Given the description of an element on the screen output the (x, y) to click on. 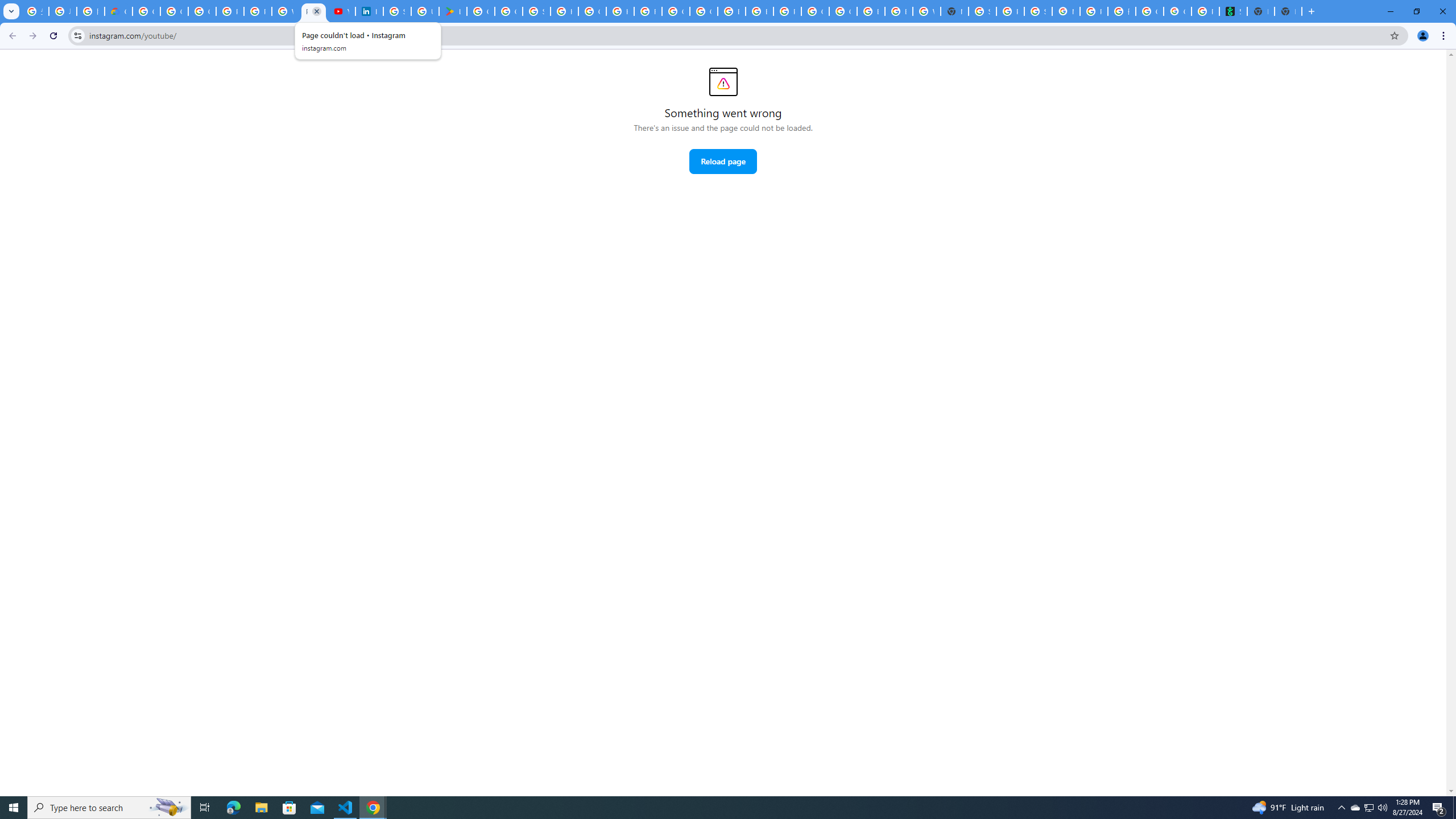
Sign in - Google Accounts (397, 11)
Last Shelter: Survival - Apps on Google Play (452, 11)
How do I create a new Google Account? - Google Account Help (620, 11)
